Given the description of an element on the screen output the (x, y) to click on. 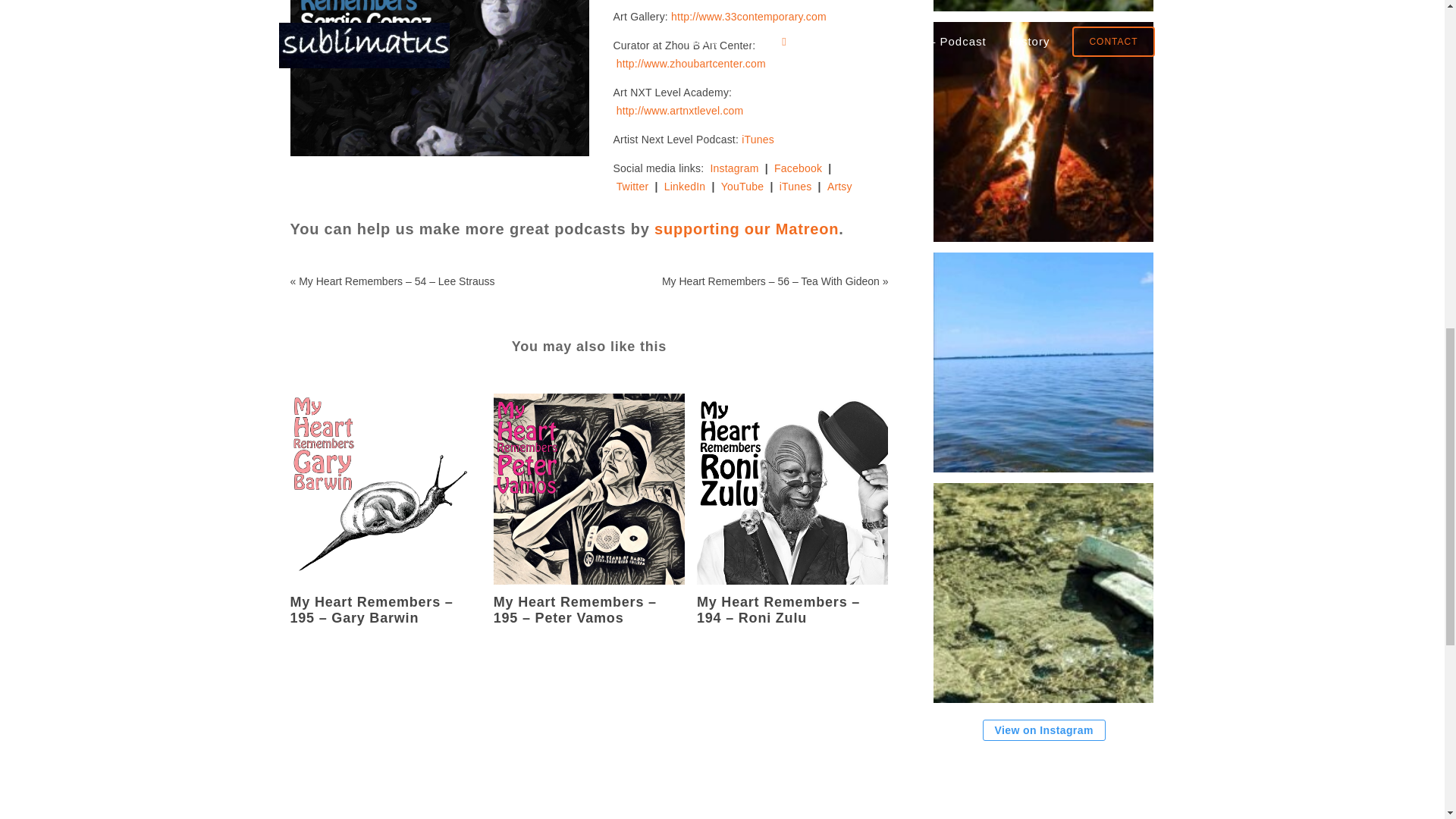
Instagram (734, 168)
Facebook (798, 168)
Twitter (632, 186)
iTunes (757, 139)
